Given the description of an element on the screen output the (x, y) to click on. 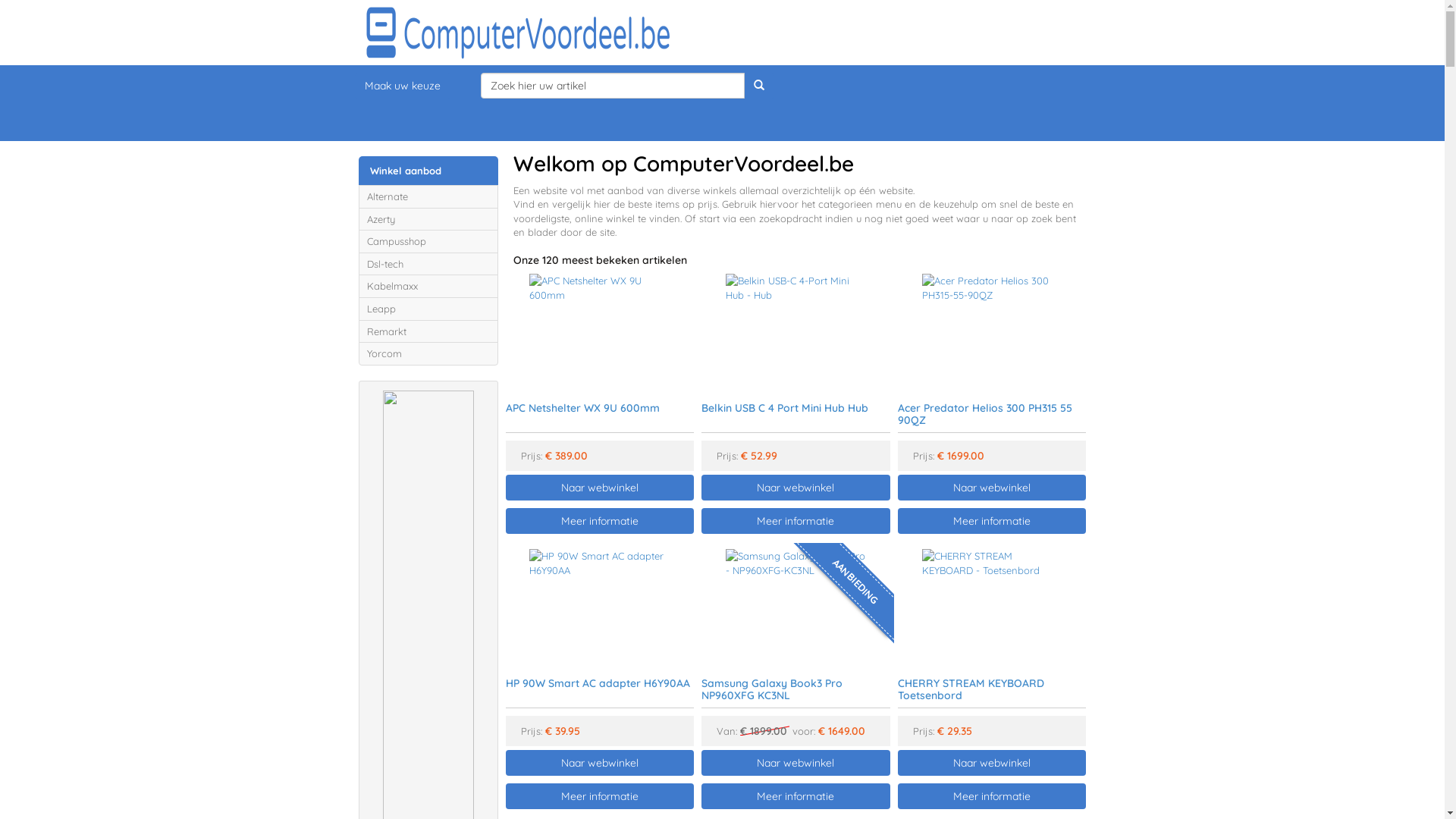
Maak uw keuze Element type: text (402, 85)
Remarkt Element type: text (427, 331)
Zoek hier uw artikel Element type: text (612, 85)
Meer informatie Element type: text (599, 520)
Meer informatie Element type: text (991, 520)
HP 90W Smart AC adapter H6Y90AA Element type: text (597, 683)
Naar webwinkel Element type: text (991, 762)
Meer informatie Element type: text (599, 533)
homepage Element type: hover (721, 32)
apc-netshelter-wx-9u-600mm Element type: hover (599, 330)
Belkin USB C 4 Port Mini Hub Hub Element type: text (784, 407)
samsung-galaxy-book3-pro-np960xfg-kc3nl Element type: hover (795, 605)
Meer informatie Element type: text (795, 796)
Naar webwinkel Element type: text (795, 486)
Naar webwinkel Element type: text (599, 487)
Yorcom Element type: text (427, 353)
CHERRY STREAM KEYBOARD Toetsenbord Element type: text (970, 688)
acer-predator-helios-300-ph315-55-90qz Element type: hover (991, 330)
Leapp Element type: text (427, 308)
Naar webwinkel Element type: text (599, 486)
Naar webwinkel Element type: text (599, 762)
Naar webwinkel Element type: text (795, 762)
Alternate Element type: text (427, 196)
hp-90w-smart-ac-adapter-h6y90aa Element type: hover (599, 605)
Meer informatie Element type: text (795, 520)
Campusshop Element type: text (427, 241)
Naar webwinkel Element type: text (795, 487)
Meer informatie Element type: text (795, 533)
Azerty Element type: text (427, 219)
Dsl-tech Element type: text (427, 264)
Samsung Galaxy Book3 Pro NP960XFG KC3NL Element type: text (771, 688)
APC Netshelter WX 9U 600mm Element type: text (581, 407)
cherry-stream-keyboard-toetsenbord Element type: hover (991, 605)
Meer informatie Element type: text (599, 796)
Meer informatie Element type: text (991, 796)
Acer Predator Helios 300 PH315 55 90QZ Element type: text (984, 413)
Naar webwinkel Element type: text (991, 762)
Meer informatie Element type: text (991, 533)
Kabelmaxx Element type: text (427, 286)
Naar webwinkel Element type: text (599, 762)
belkin-usb-c-4-port-mini-hub-hub Element type: hover (795, 330)
Naar webwinkel Element type: text (991, 486)
Naar webwinkel Element type: text (991, 487)
Naar webwinkel Element type: text (795, 762)
